Given the description of an element on the screen output the (x, y) to click on. 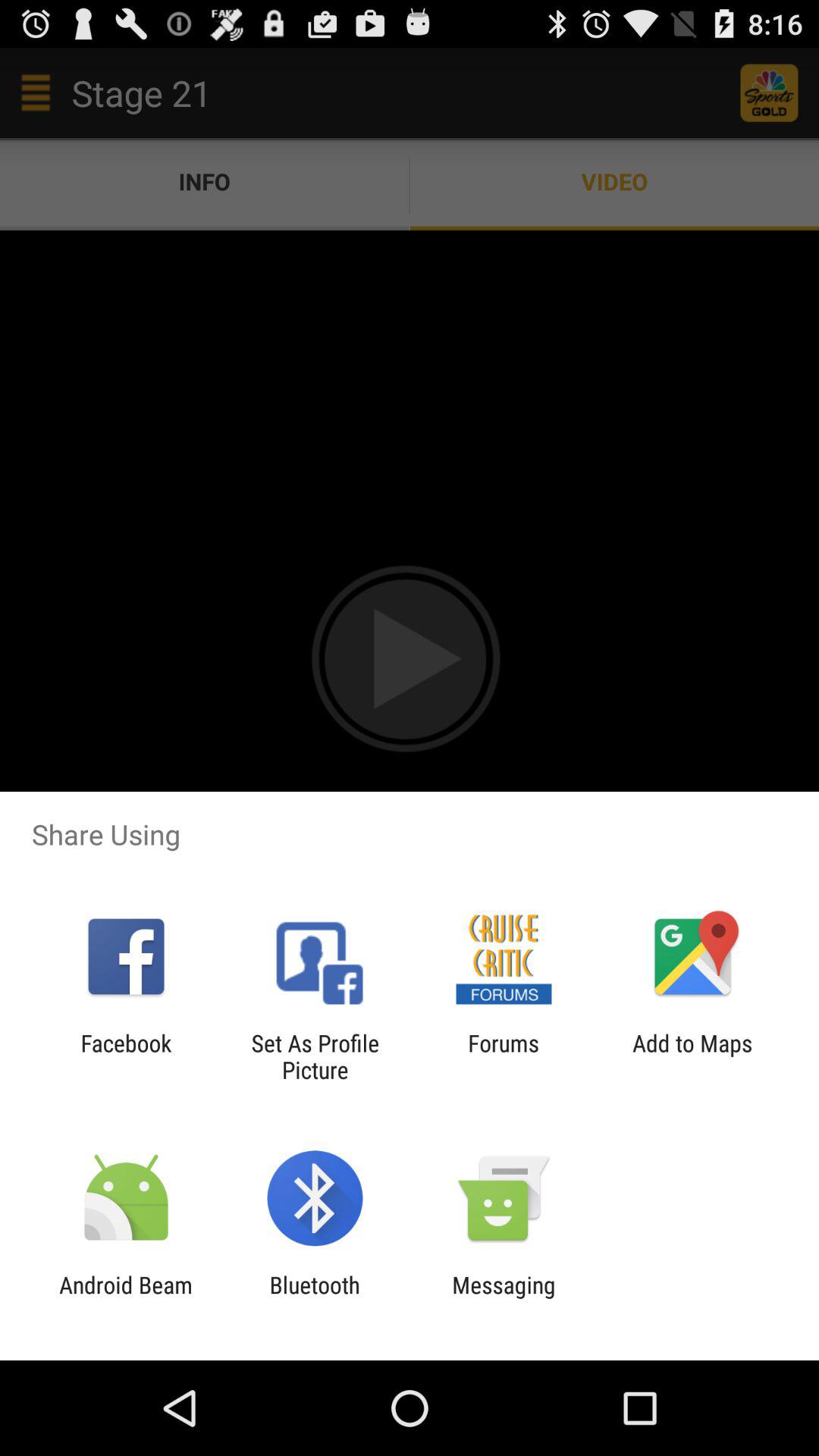
select app to the right of the forums item (692, 1056)
